Given the description of an element on the screen output the (x, y) to click on. 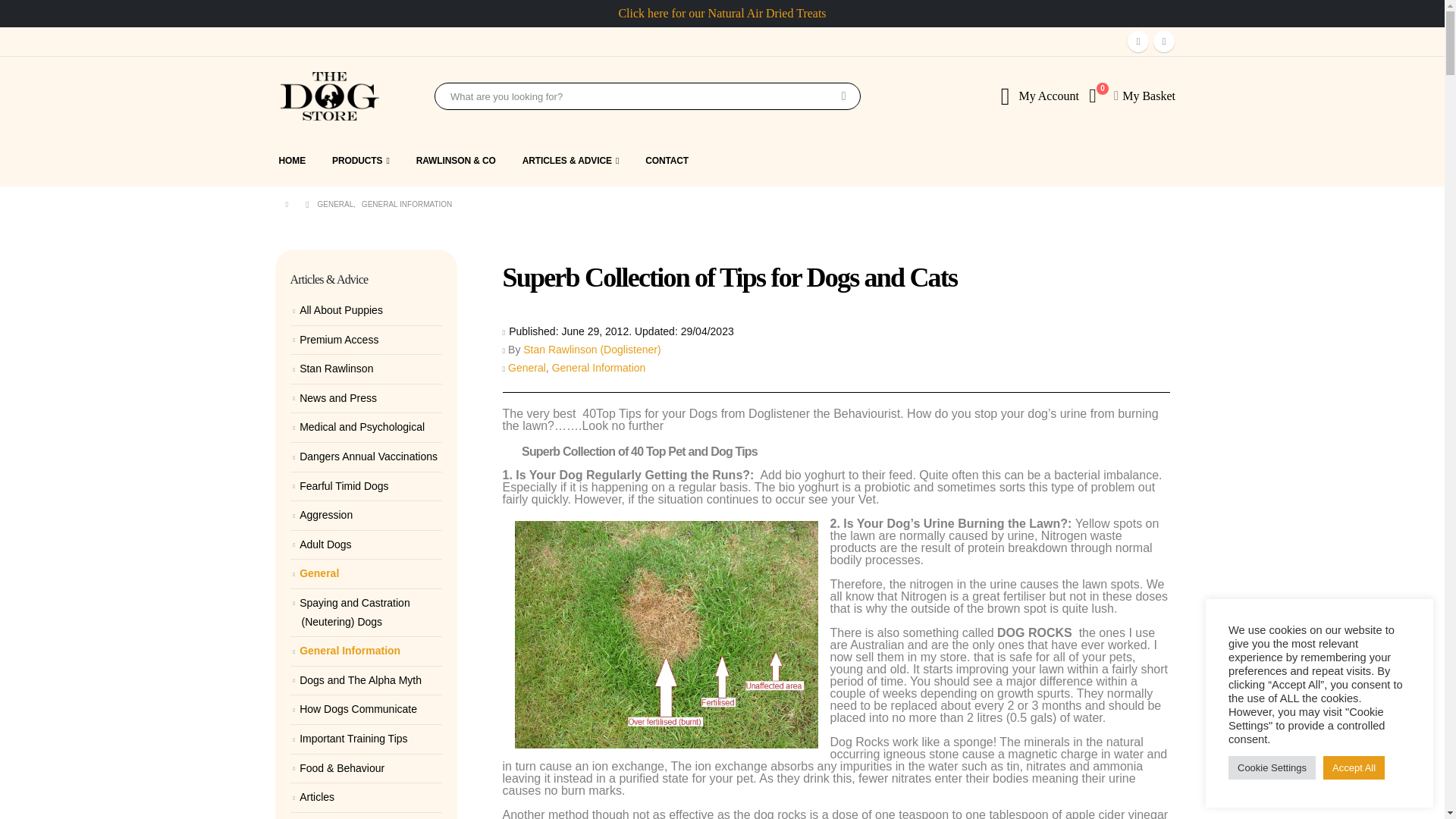
Instagram (1163, 41)
PRODUCTS (360, 160)
HOME (298, 160)
Click here for our Natural Air Dried Treats (721, 12)
Search (843, 95)
Facebook (1137, 41)
My Basket (1148, 95)
My Account (1047, 95)
